Given the description of an element on the screen output the (x, y) to click on. 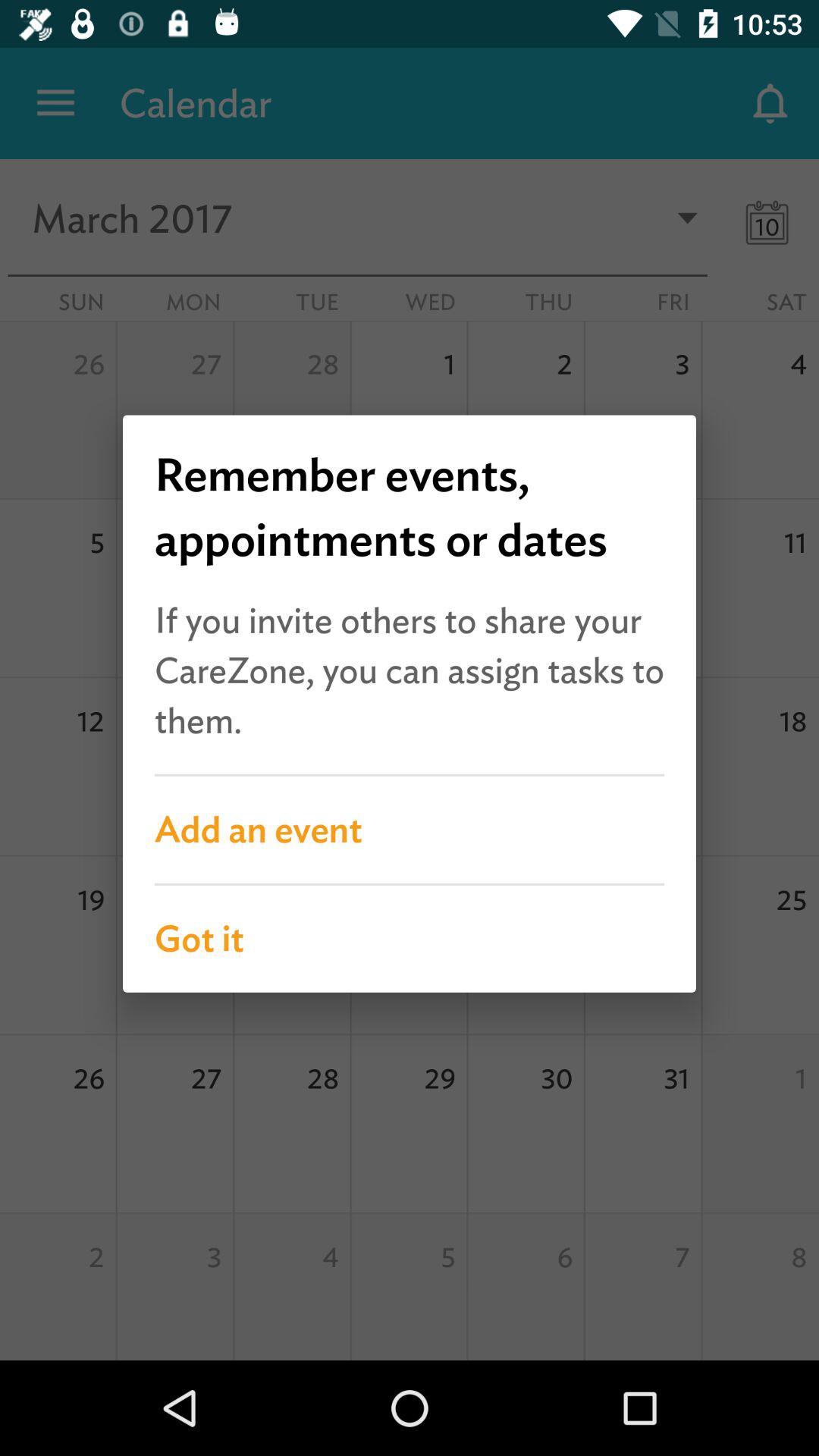
jump to the add an event item (409, 829)
